Given the description of an element on the screen output the (x, y) to click on. 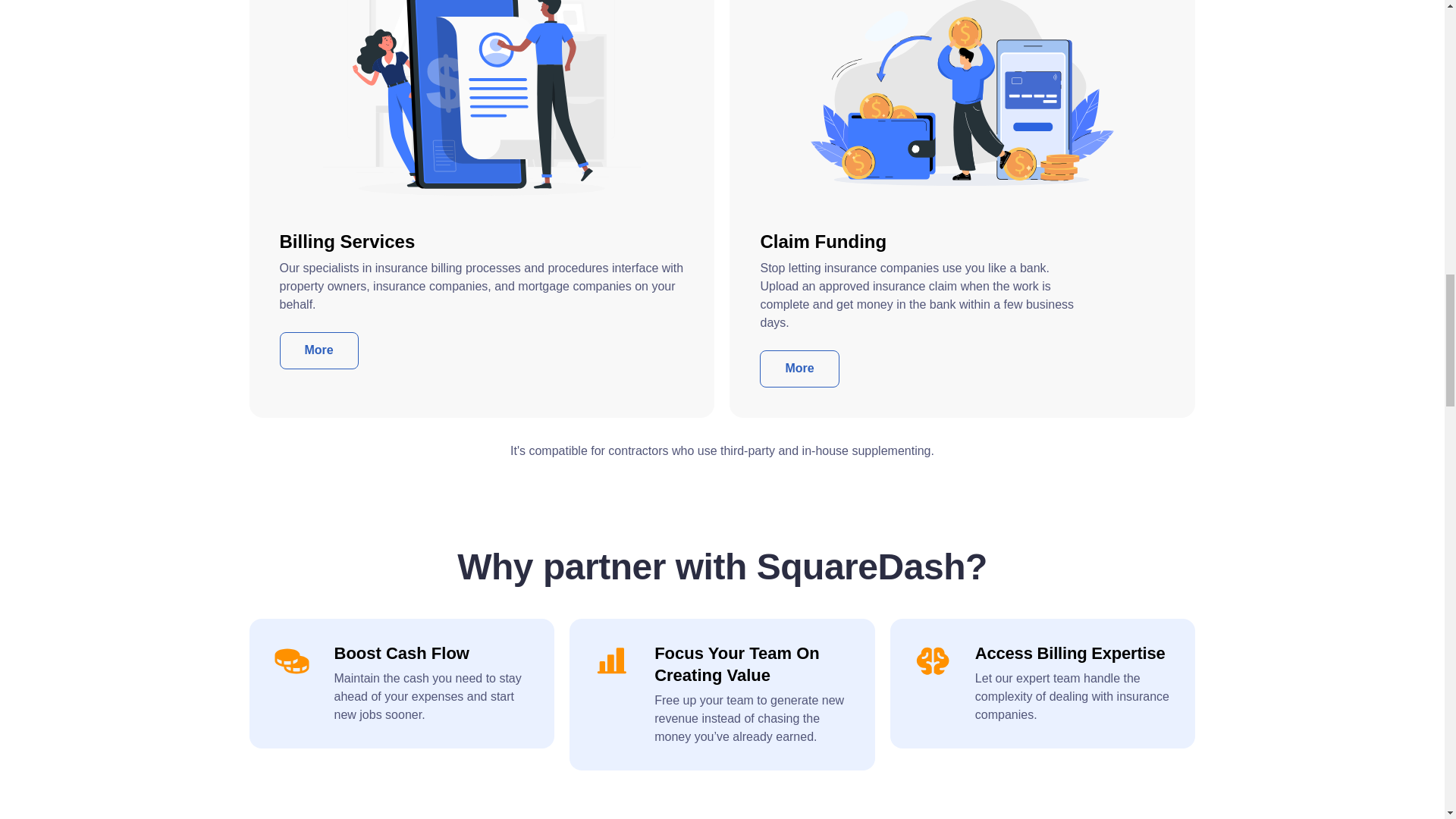
More (799, 368)
More (318, 350)
